Given the description of an element on the screen output the (x, y) to click on. 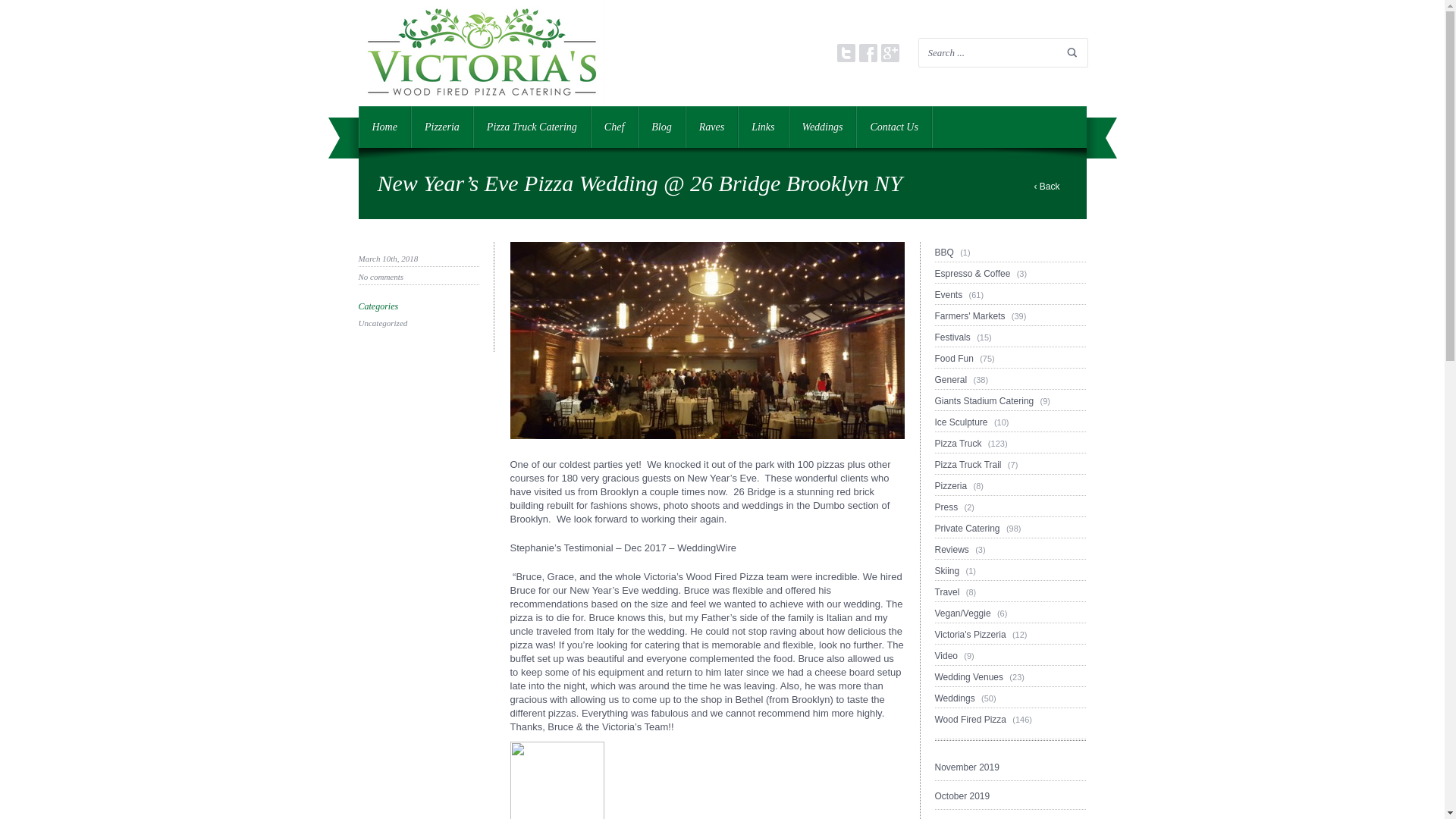
Twitter (846, 53)
Search ... (1002, 52)
Victorias Wood Fired Pizza Truck (481, 100)
Chef (614, 127)
Pizza Truck Catering (532, 127)
Blog (660, 127)
View all posts filed under Events (1010, 294)
View all posts filed under Food Fun (1010, 358)
Home (384, 127)
View all posts filed under BBQ (1010, 251)
View all posts filed under General (1010, 379)
Contact Us (893, 127)
Pizzeria (441, 127)
Weddings (823, 127)
26 Bridge (754, 491)
